Given the description of an element on the screen output the (x, y) to click on. 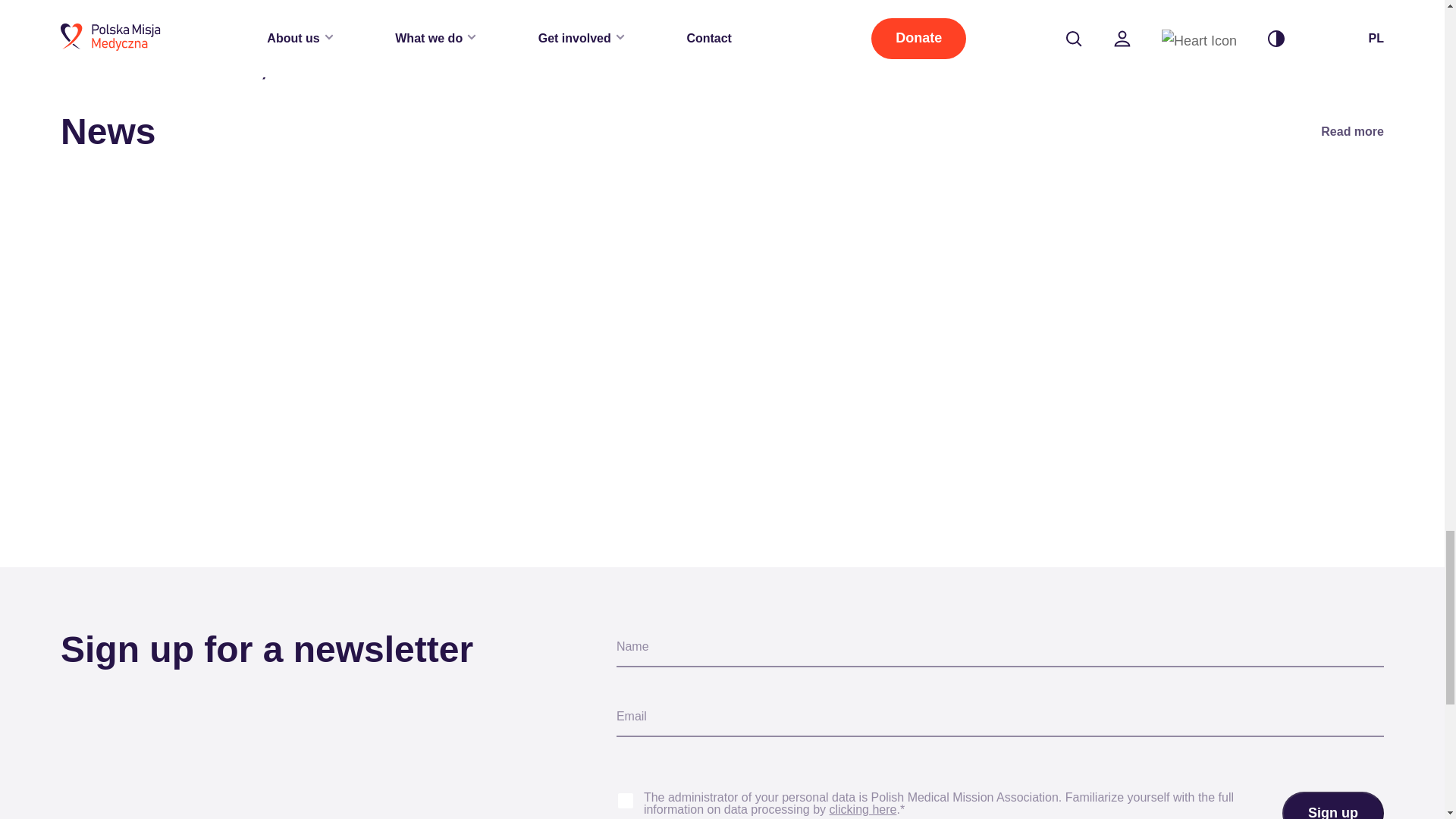
Sign up (1333, 805)
